Given the description of an element on the screen output the (x, y) to click on. 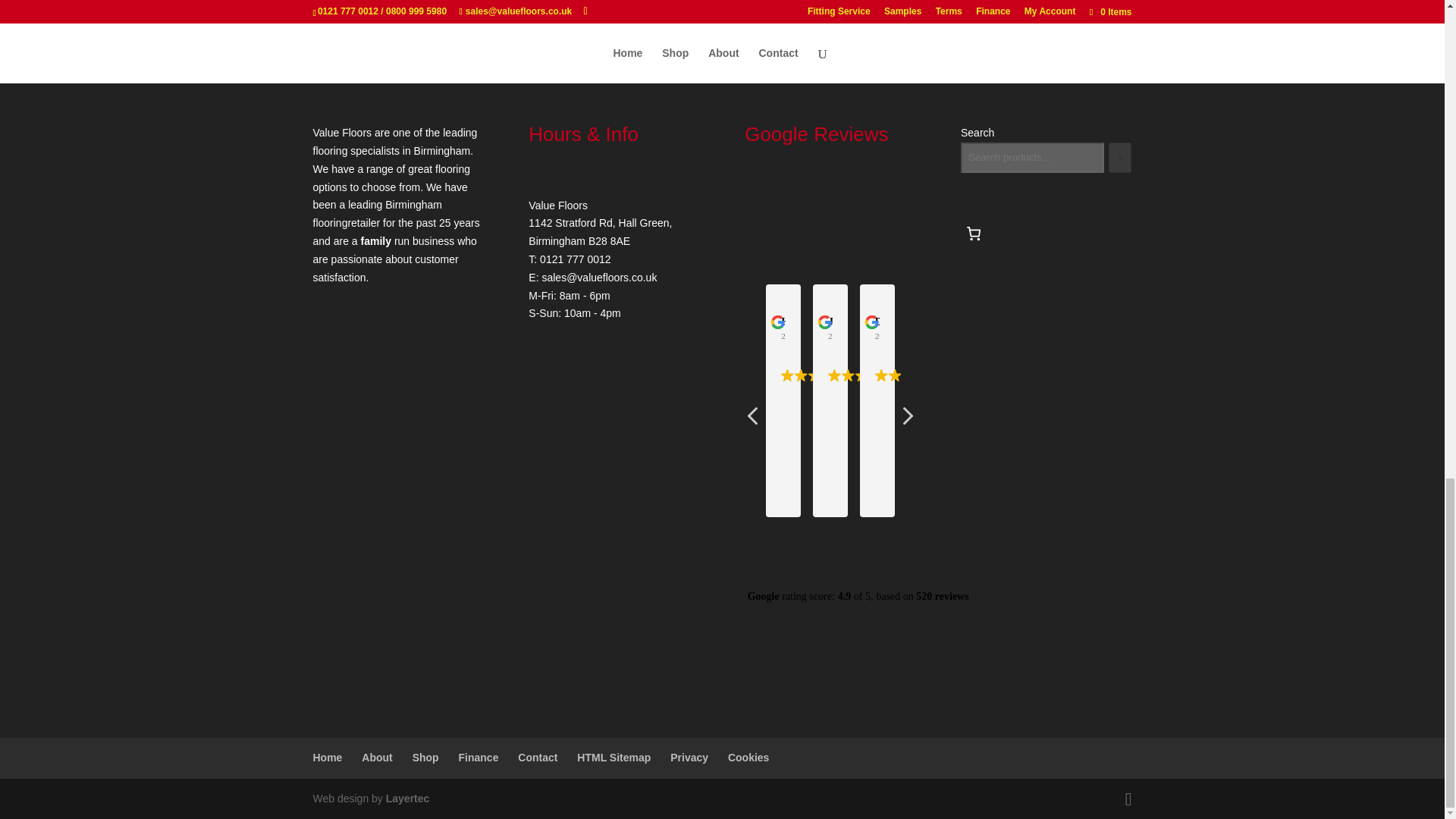
Finance (478, 757)
HTML Sitemap (613, 757)
About (376, 757)
Privacy (688, 757)
web design (407, 798)
Home (327, 757)
Contact (537, 757)
Shop (425, 757)
